Given the description of an element on the screen output the (x, y) to click on. 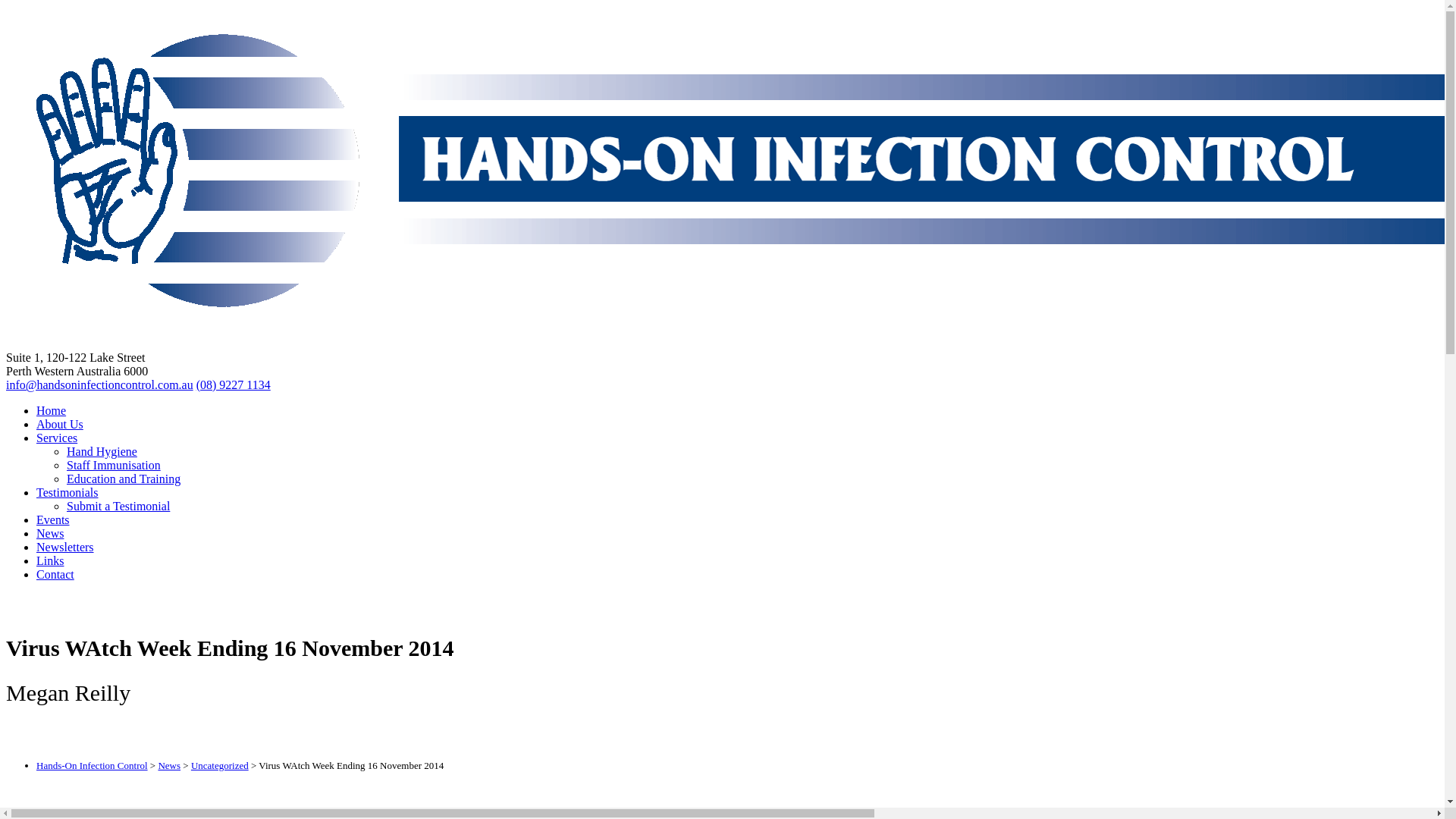
Links Element type: text (49, 560)
Hand Hygiene Element type: text (101, 451)
Services Element type: text (56, 437)
Testimonials Element type: text (67, 492)
Submit a Testimonial Element type: text (117, 505)
(08) 9227 1134 Element type: text (233, 384)
Education and Training Element type: text (123, 478)
Hands-On Infection Control Element type: text (91, 765)
About Us Element type: text (59, 423)
Contact Element type: text (55, 573)
Home Element type: text (50, 410)
Events Element type: text (52, 519)
News Element type: text (168, 765)
News Element type: text (49, 533)
Uncategorized Element type: text (219, 765)
info@handsoninfectioncontrol.com.au Element type: text (99, 384)
Staff Immunisation Element type: text (113, 464)
Newsletters Element type: text (65, 546)
